Given the description of an element on the screen output the (x, y) to click on. 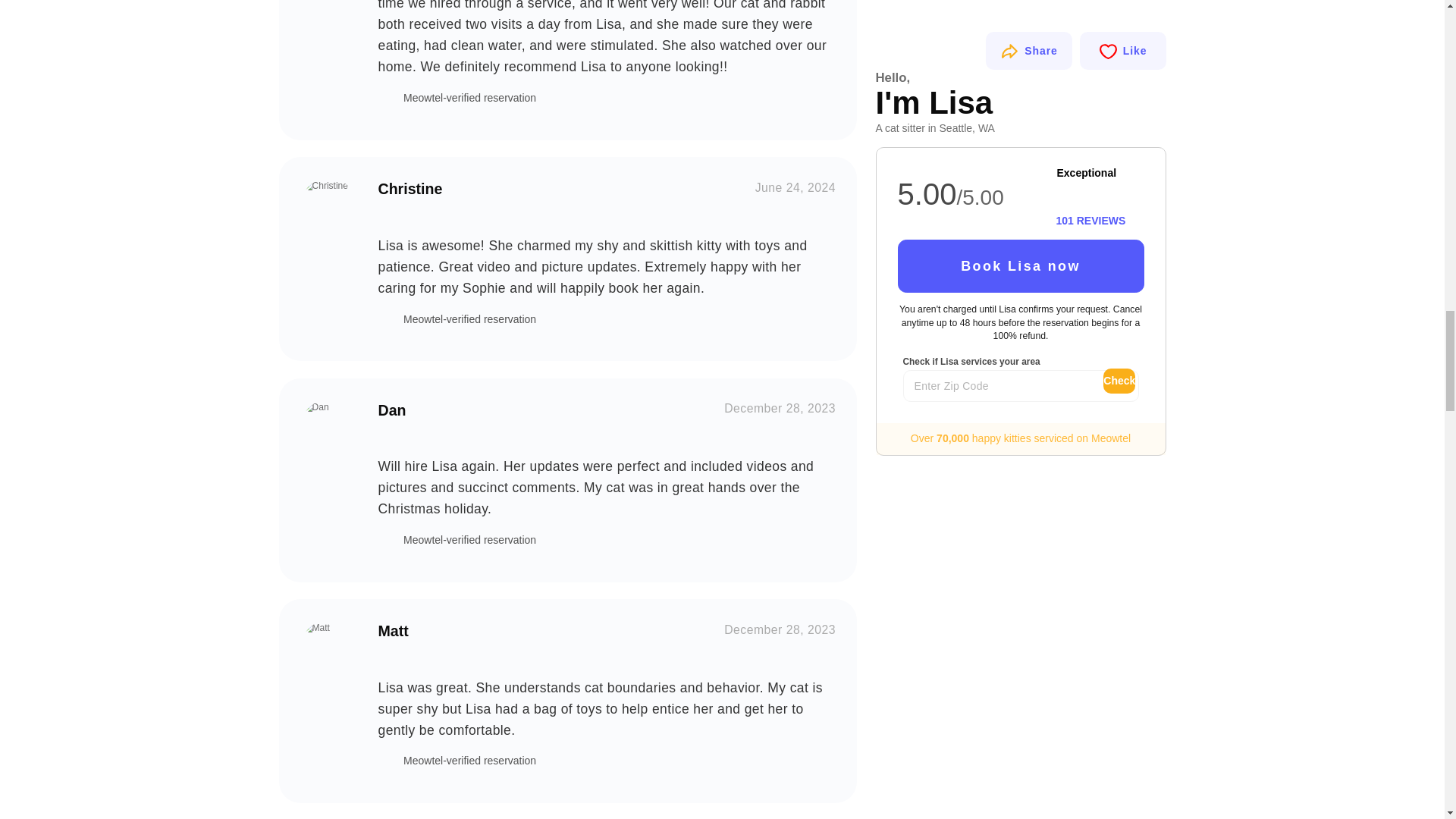
Christine (327, 206)
Matt (327, 648)
Dan (327, 427)
